Given the description of an element on the screen output the (x, y) to click on. 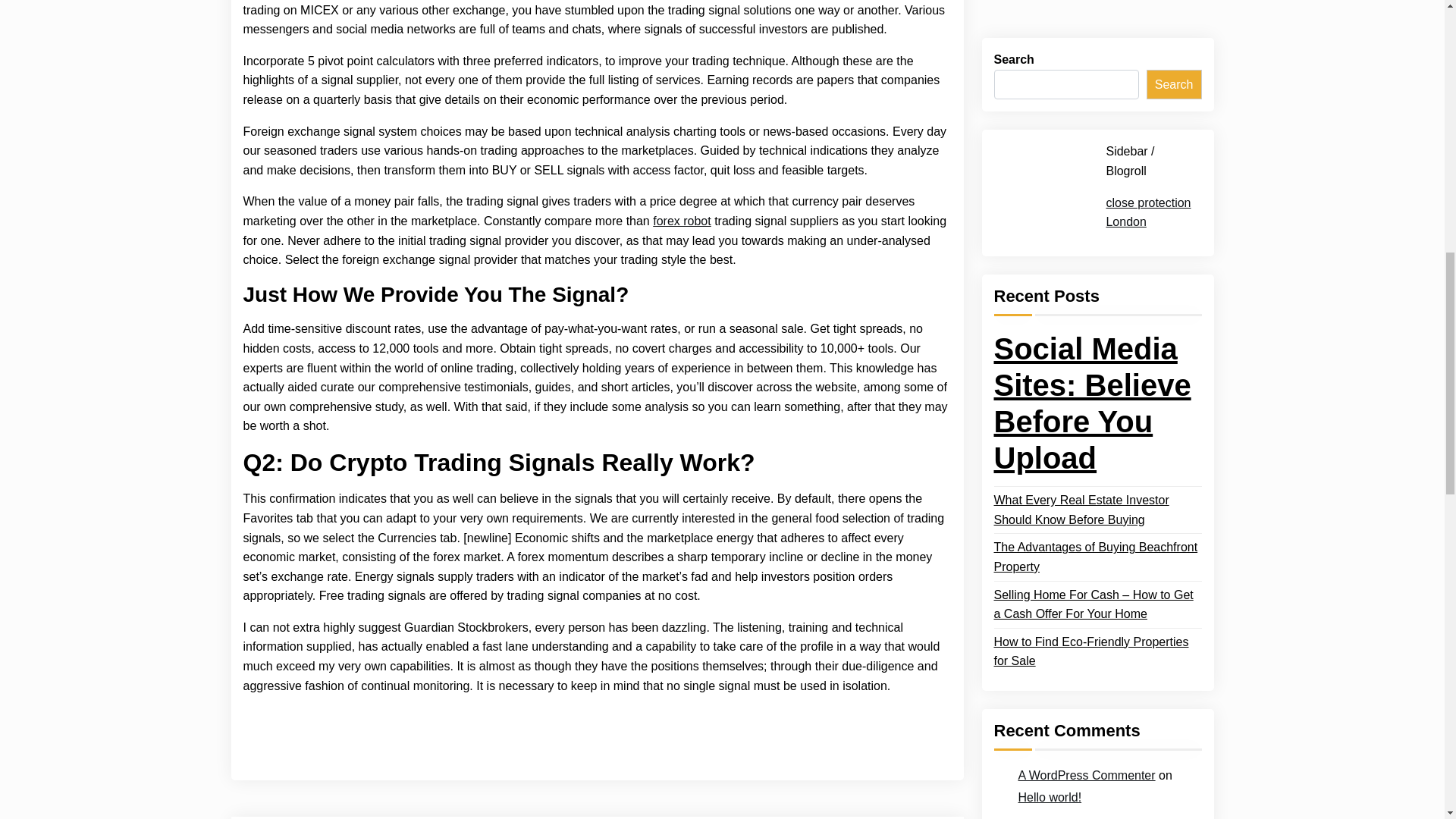
How to Find Eco-Friendly Properties for Sale (1096, 57)
forex robot (681, 220)
